Given the description of an element on the screen output the (x, y) to click on. 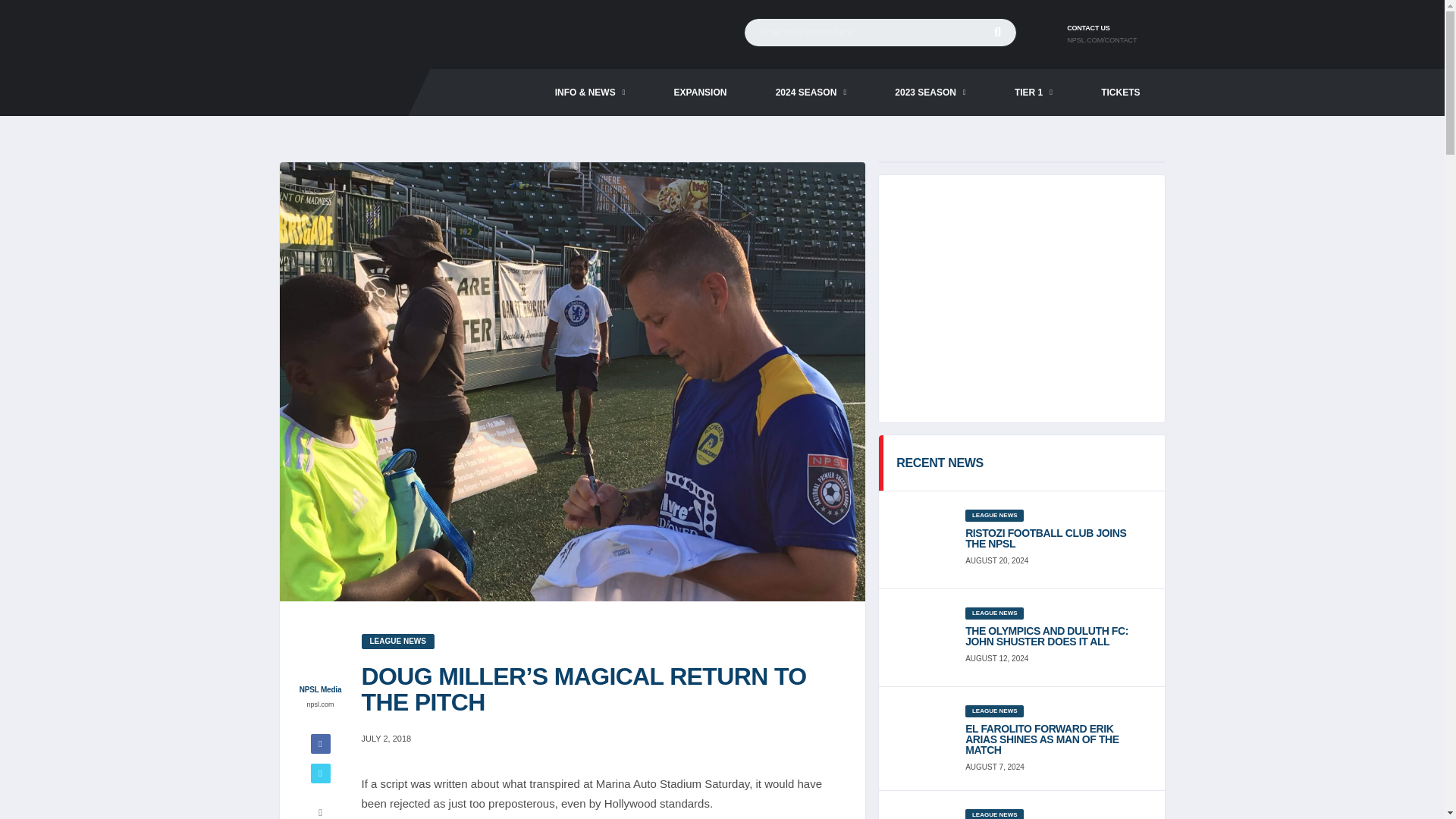
Ristozi Football Club Joins the NPSL (1056, 537)
El Farolito Forward Erik Arias Shines as Man of the Match (1056, 739)
EXPANSION (699, 92)
The Olympics and Duluth FC: John Shuster Does It All (1056, 636)
2024 SEASON (810, 92)
